Given the description of an element on the screen output the (x, y) to click on. 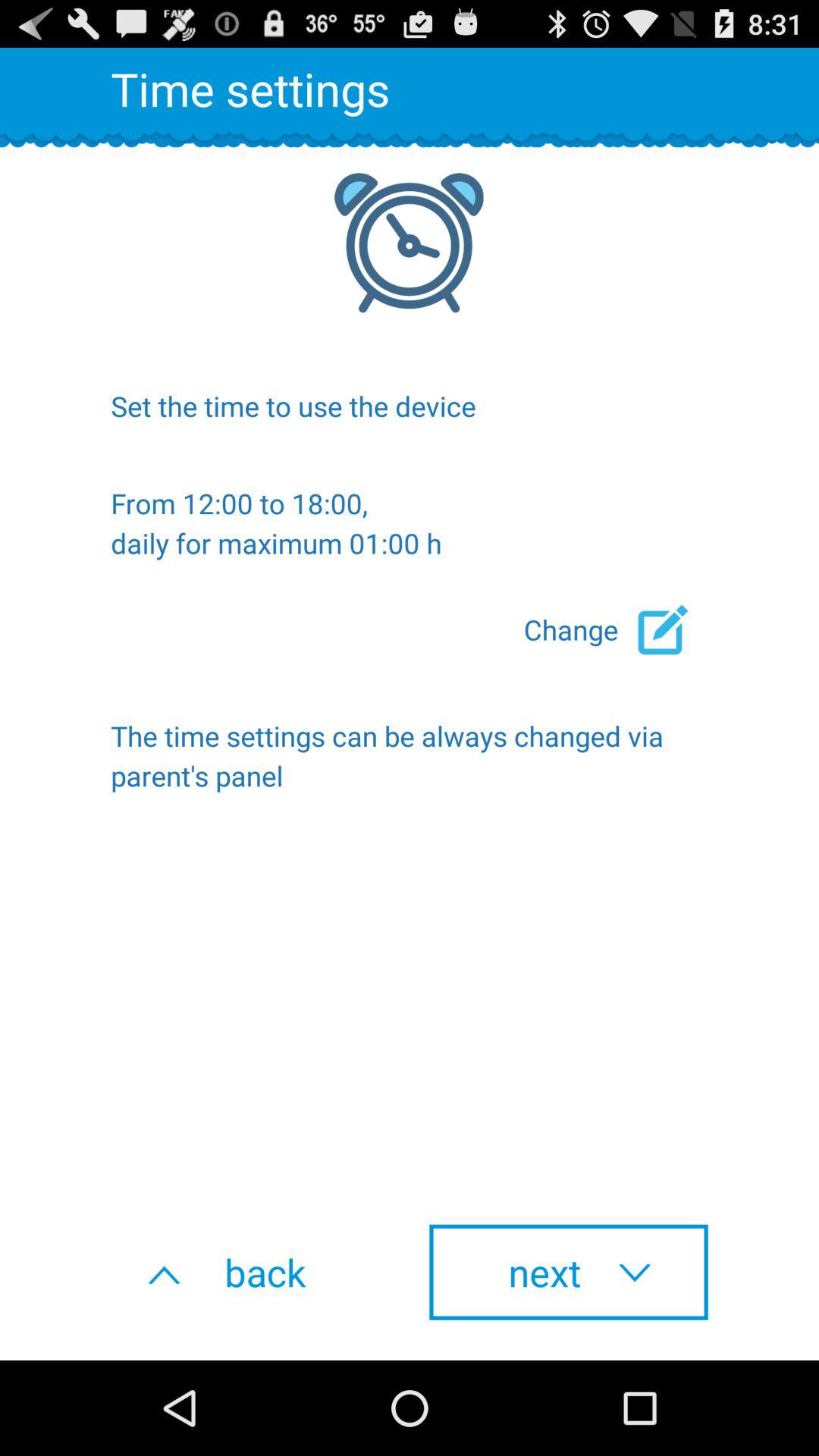
launch item below the the time settings icon (249, 1272)
